Given the description of an element on the screen output the (x, y) to click on. 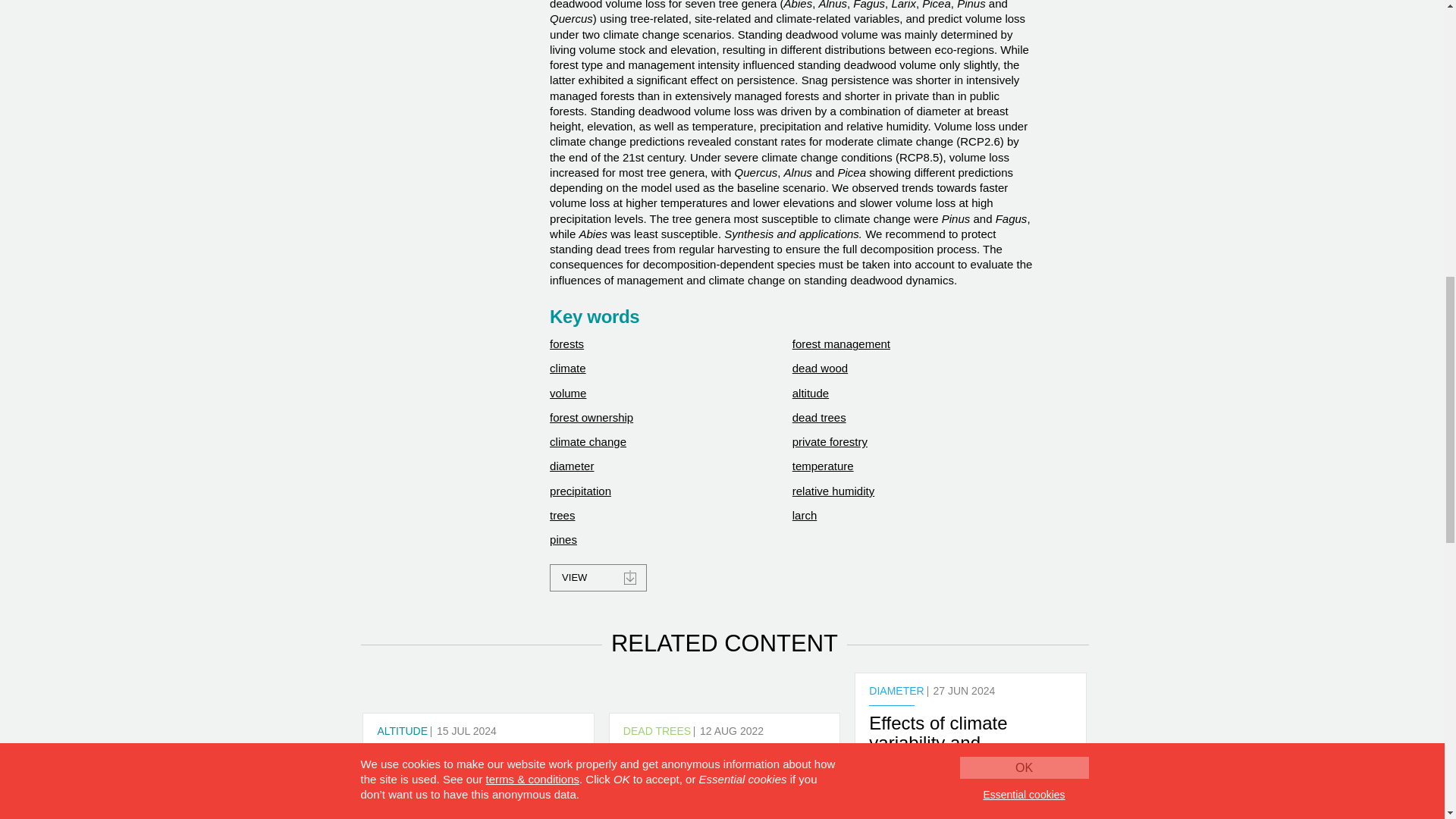
forests (566, 343)
forest management (840, 343)
climate (568, 367)
dead wood (819, 367)
